Given the description of an element on the screen output the (x, y) to click on. 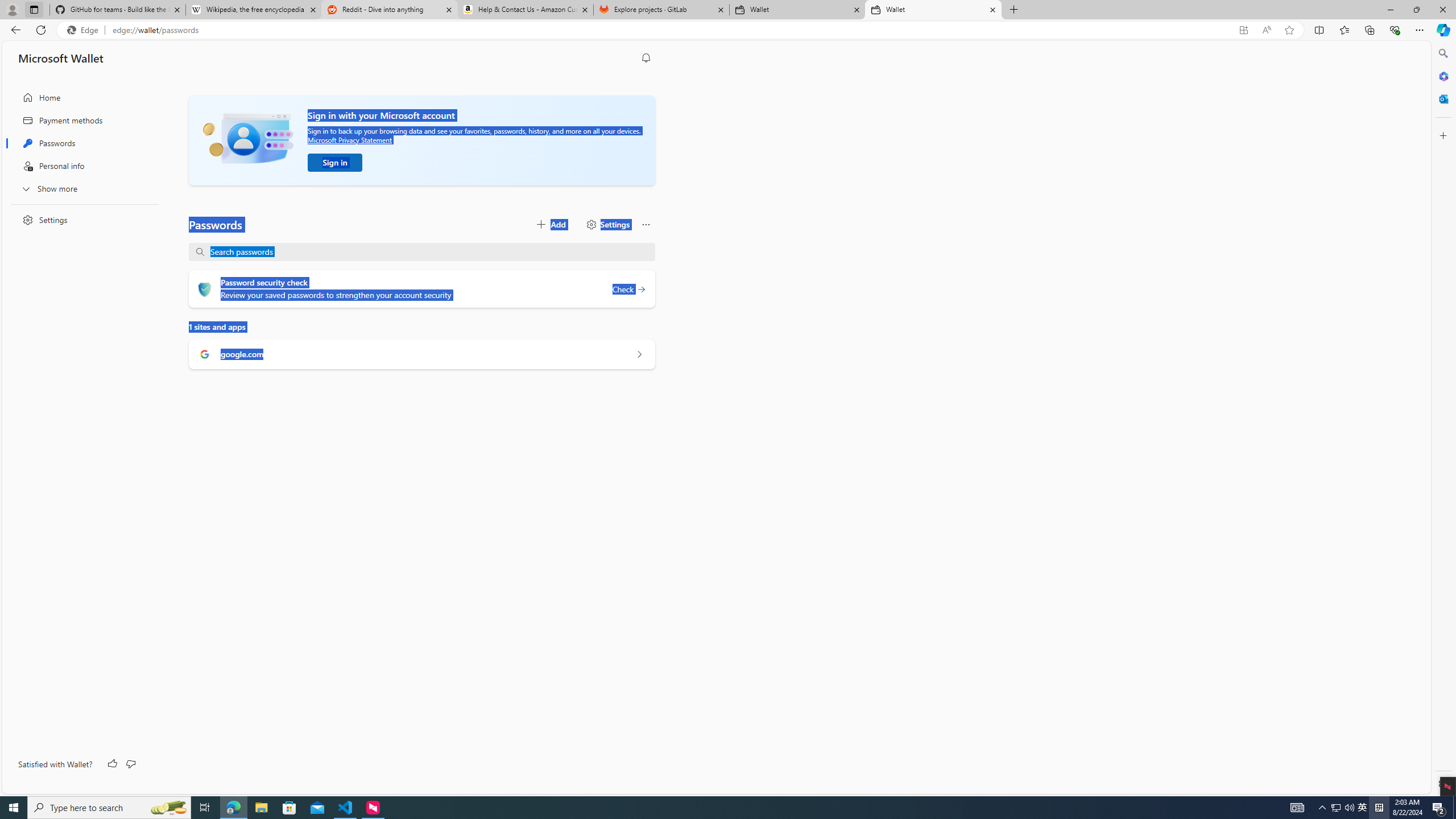
App available. Install Microsoft Wallet (1243, 29)
Passwords (81, 142)
Reddit - Dive into anything (390, 9)
Search passwords (427, 251)
Help & Contact Us - Amazon Customer Service (525, 9)
Microsoft Privacy Statement (349, 139)
Sign in (334, 162)
Show more (81, 188)
